Given the description of an element on the screen output the (x, y) to click on. 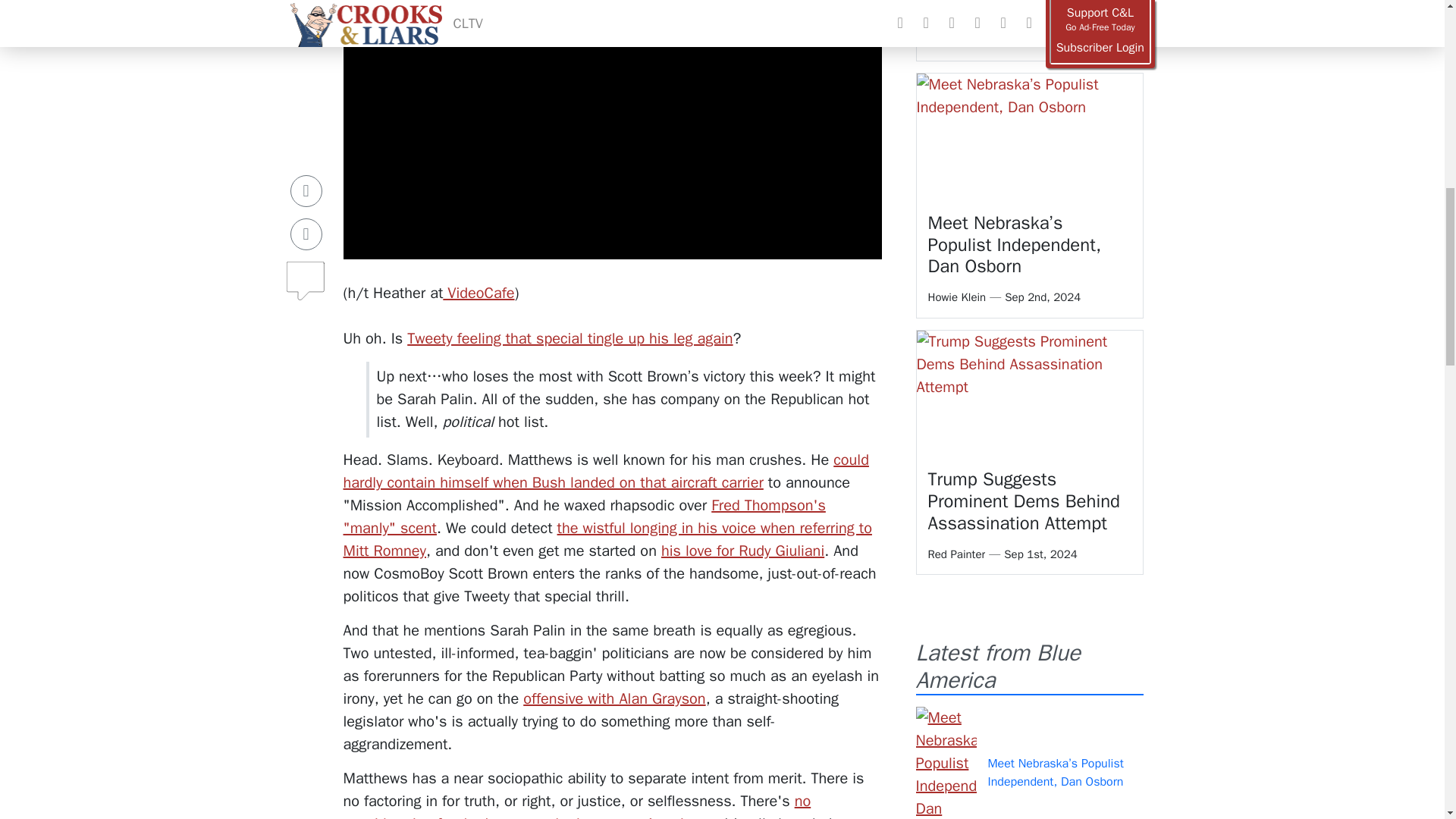
his love for Rudy Giuliani (742, 550)
offensive with Alan Grayson (613, 698)
VideoCafe (477, 292)
Tweety feeling that special tingle up his leg again (569, 338)
no consideration for the issues or the impact on Americans (576, 805)
Fred Thompson's "manly" scent (583, 516)
